Given the description of an element on the screen output the (x, y) to click on. 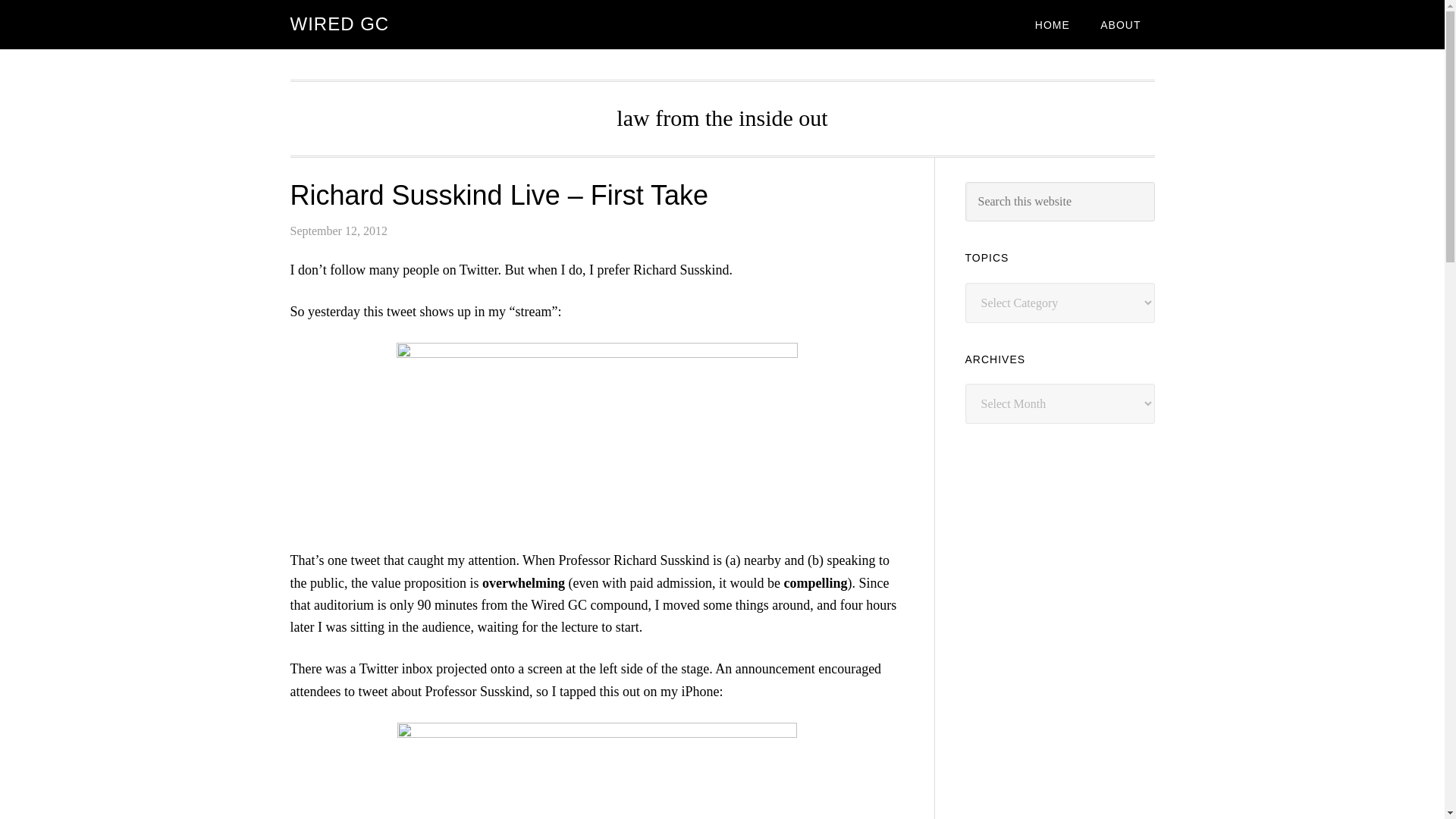
HOME (1052, 24)
Richard Susskind MSU - Wired GC (596, 436)
ABOUT (1120, 24)
JJW - MSU - Wired GC (596, 770)
WIRED GC (338, 23)
